Given the description of an element on the screen output the (x, y) to click on. 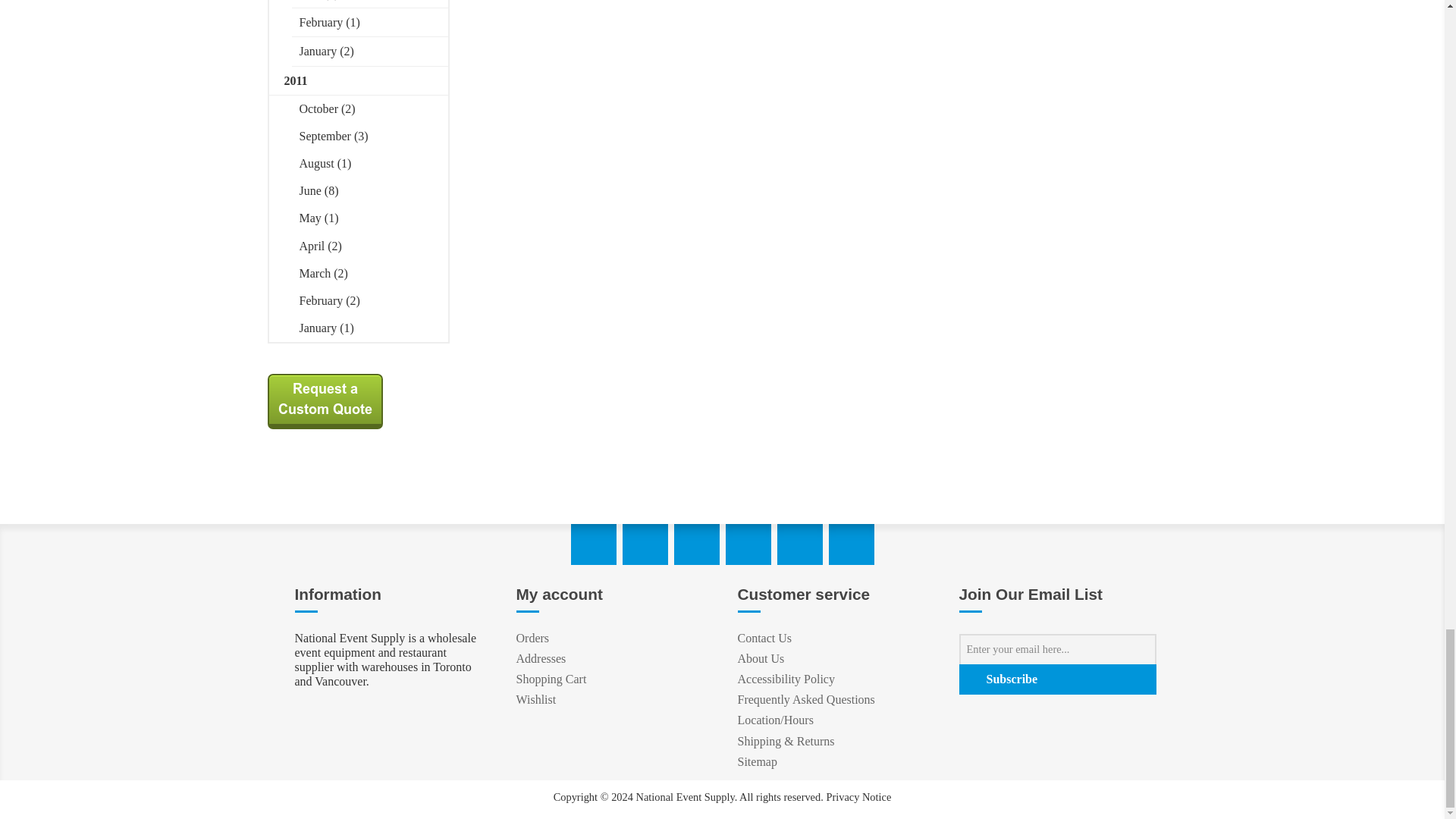
Subscribe (1057, 679)
